Given the description of an element on the screen output the (x, y) to click on. 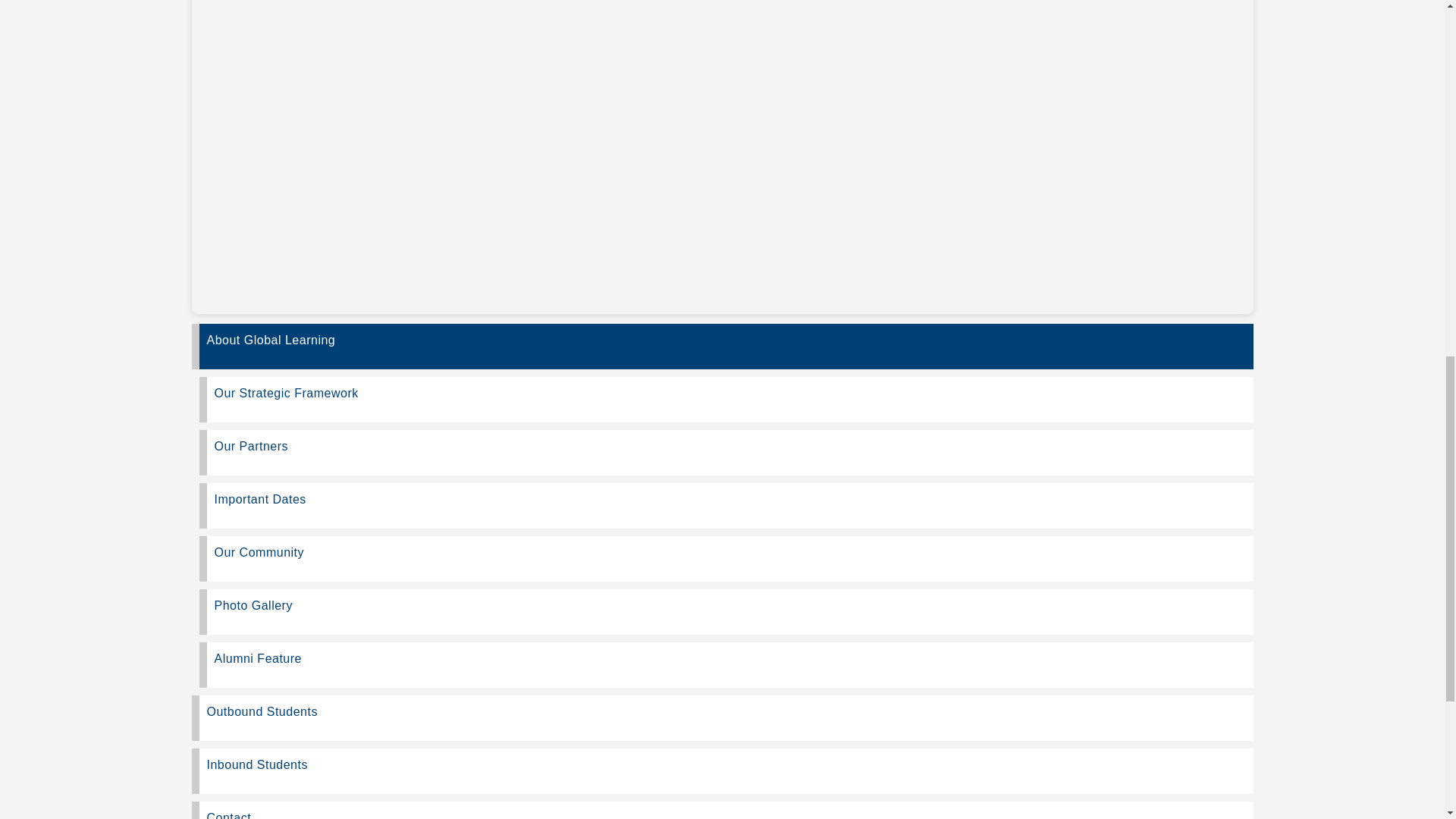
Outbound Students (721, 718)
Our Strategic Framework (725, 399)
Photo Gallery (725, 611)
Exchange Alumni Feature (725, 664)
Contact (721, 810)
Our Community (725, 558)
Inbound Students (721, 770)
Global Learning Partners (725, 452)
Our Strategic Framework (725, 399)
Alumni Feature (725, 664)
